Given the description of an element on the screen output the (x, y) to click on. 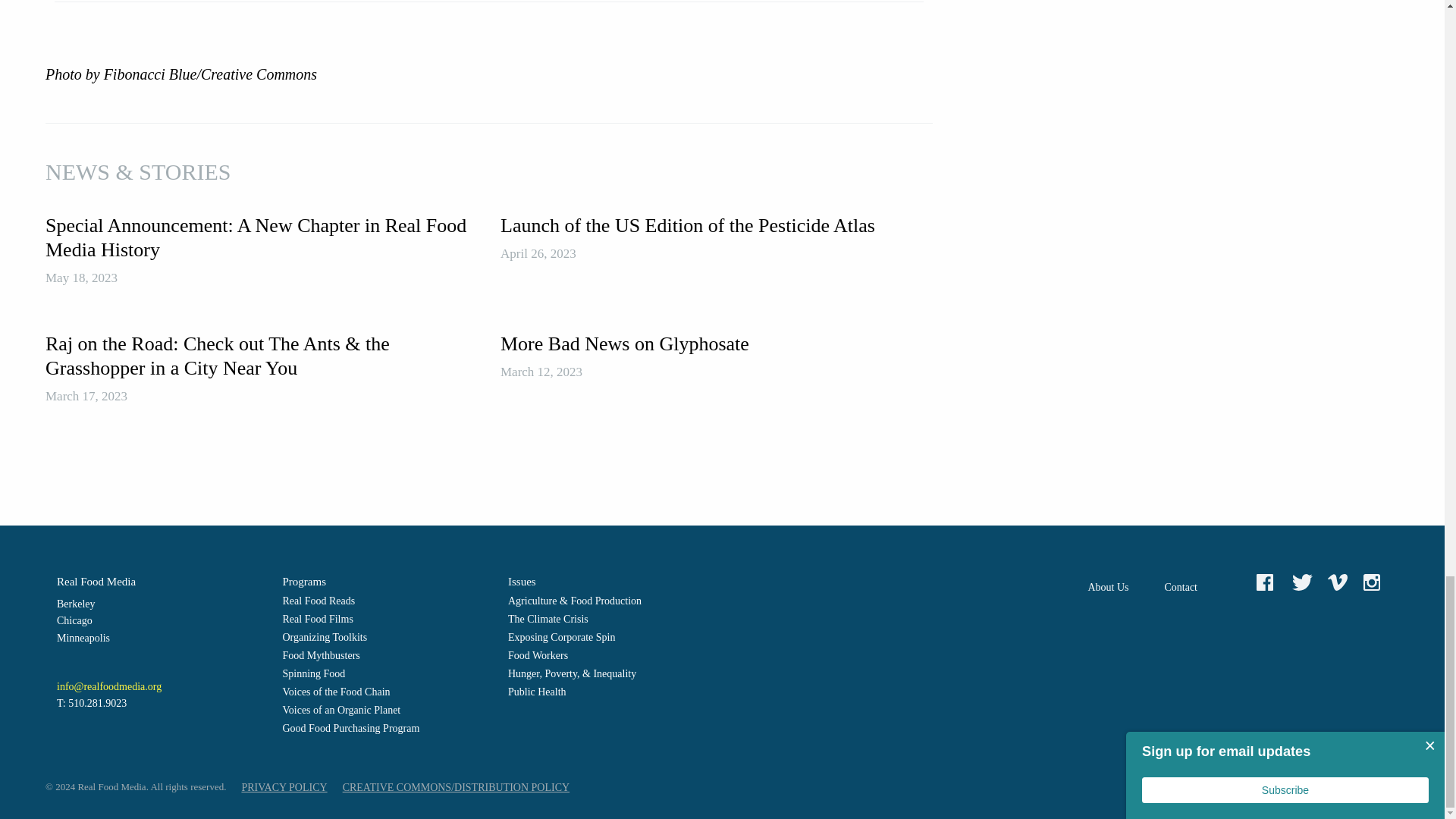
instagram (1374, 582)
home (1232, 587)
vimeo (1339, 582)
Form 0 (1285, 657)
twitter (1304, 582)
facebook (1268, 582)
